Given the description of an element on the screen output the (x, y) to click on. 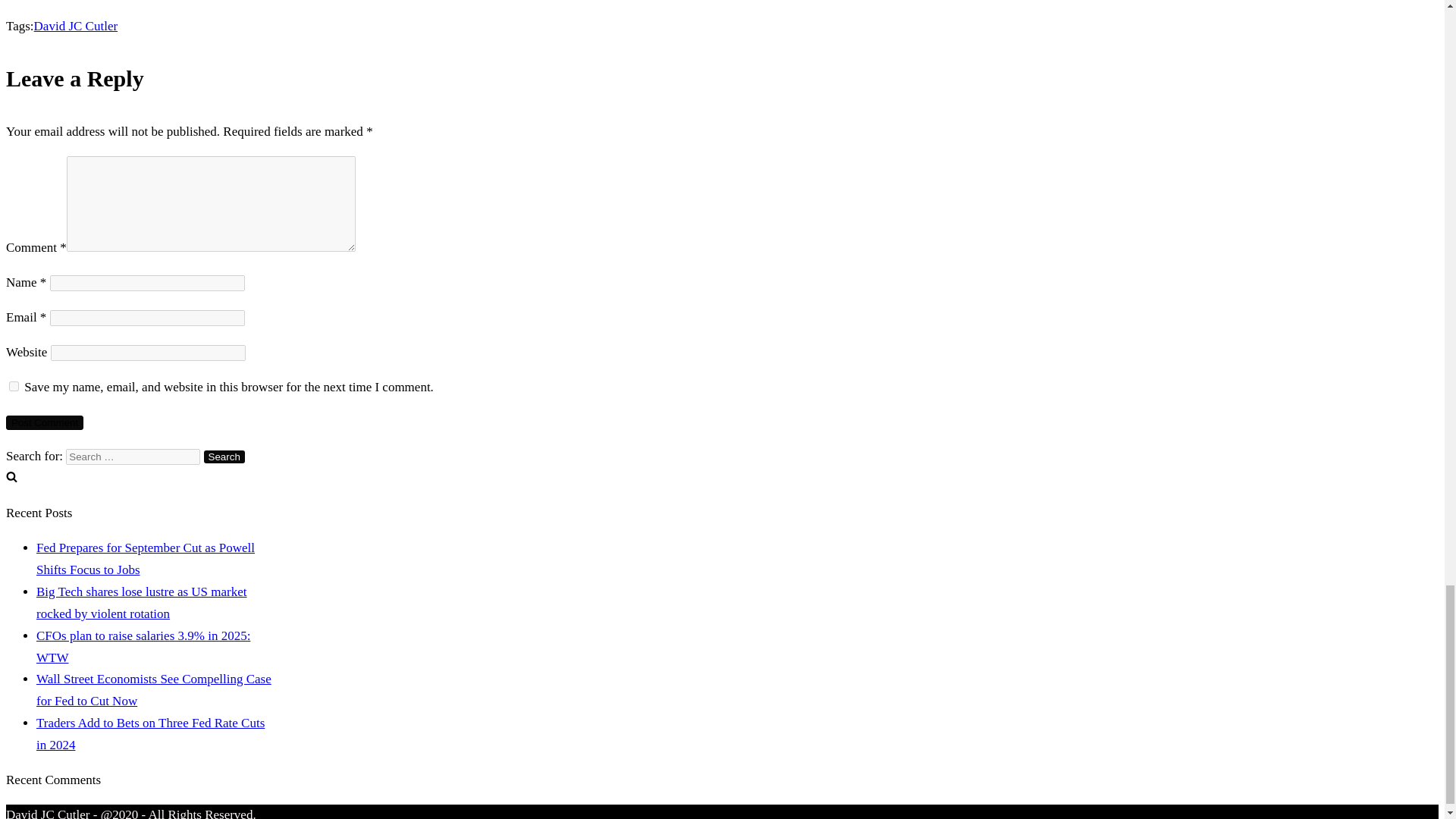
David JC Cutler (75, 25)
Search (223, 456)
Search (223, 456)
Post Comment (43, 422)
Post Comment (43, 422)
Traders Add to Bets on Three Fed Rate Cuts in 2024 (150, 733)
Search (223, 456)
yes (13, 386)
David JC Cutler (75, 25)
